Given the description of an element on the screen output the (x, y) to click on. 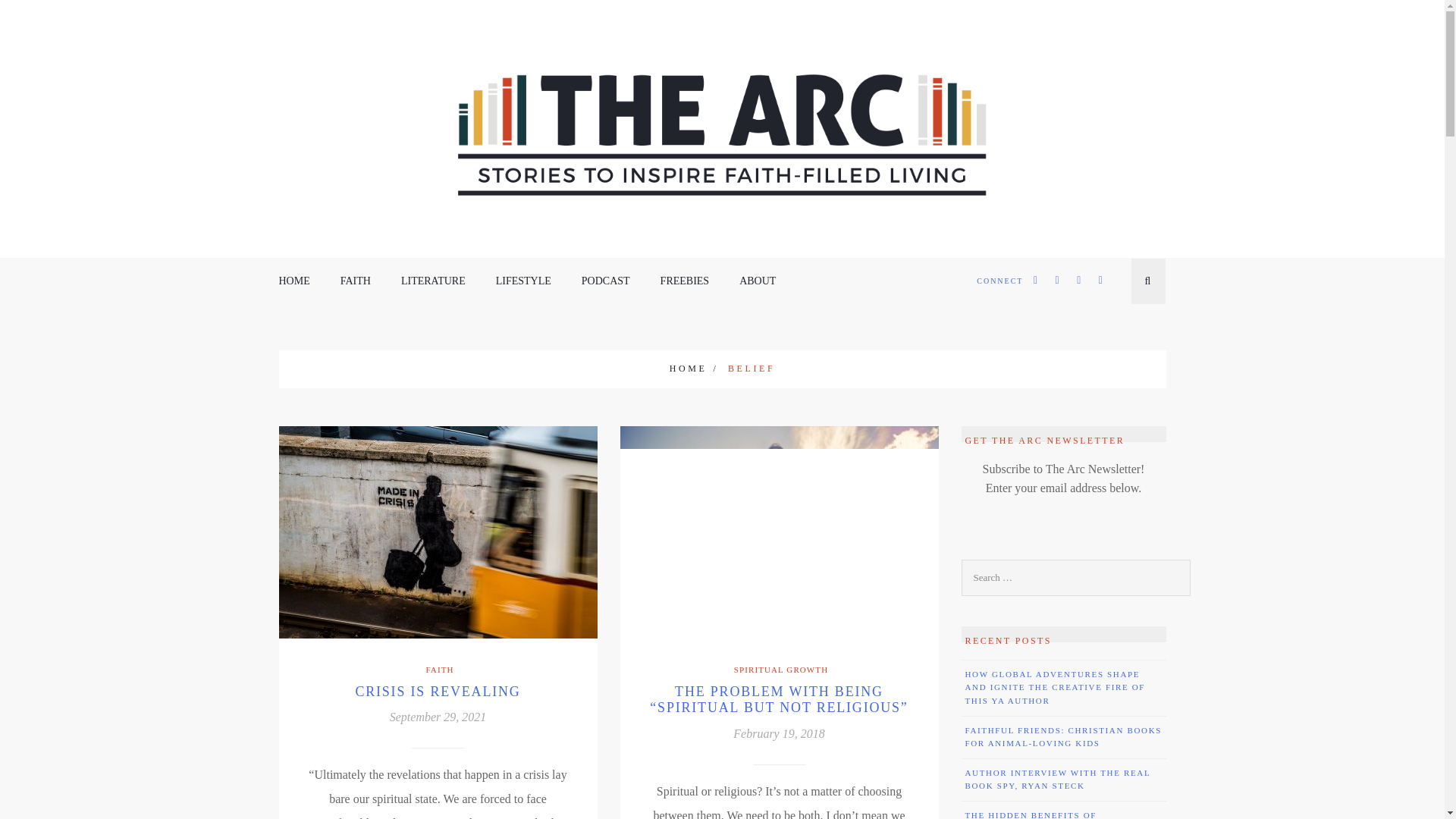
HOME (694, 368)
Search (38, 15)
FAITH (437, 670)
CRISIS IS REVEALING (437, 691)
LITERATURE (433, 280)
SPIRITUAL GROWTH (779, 670)
PODCAST (605, 280)
CONNECT (999, 280)
LIFESTYLE (523, 280)
FREEBIES (685, 280)
